Given the description of an element on the screen output the (x, y) to click on. 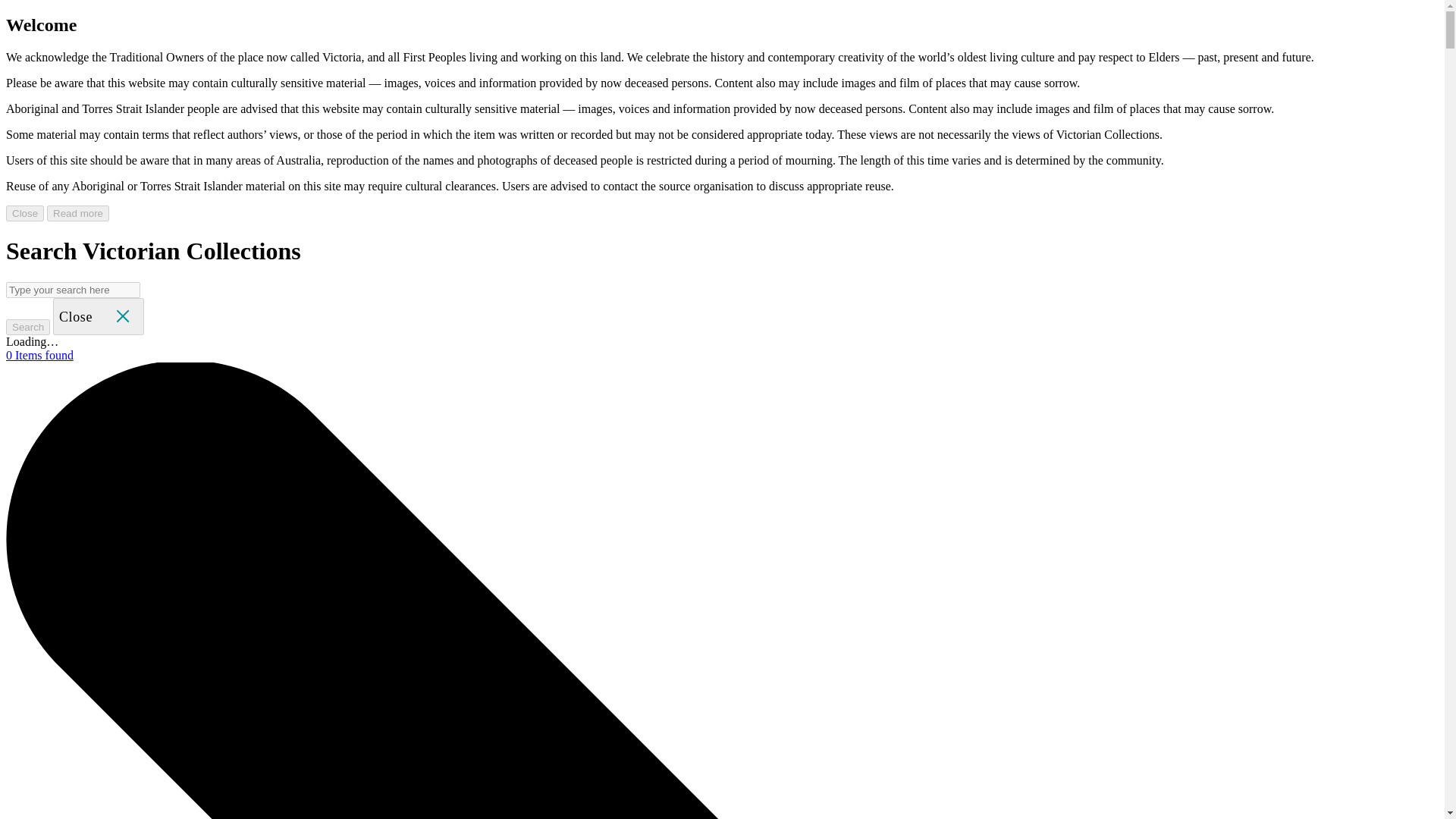
Close (98, 316)
Search (27, 326)
Close (98, 315)
Read more (77, 213)
Close (24, 213)
